Given the description of an element on the screen output the (x, y) to click on. 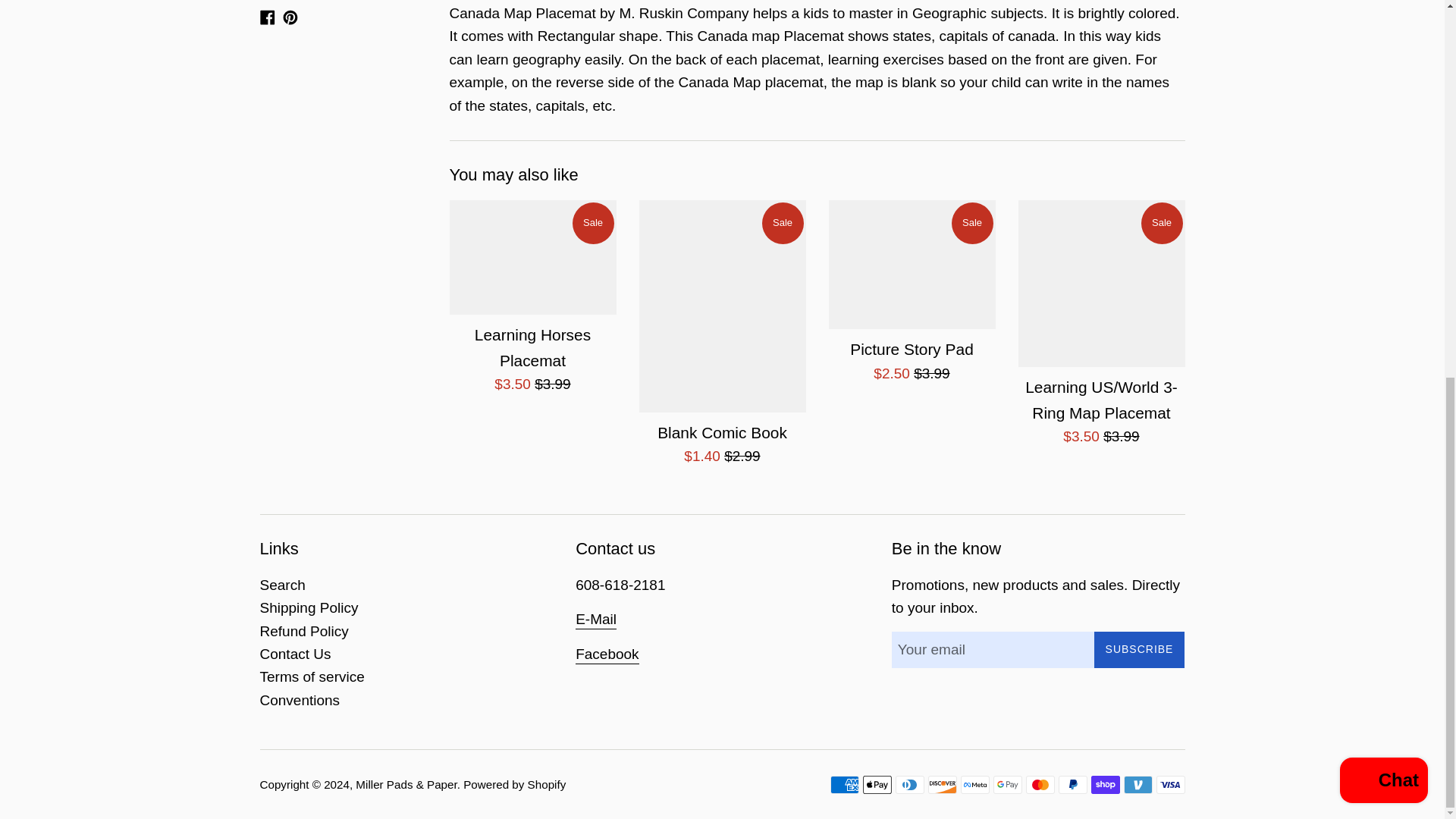
PayPal (1072, 784)
Shop Pay (1104, 784)
Visa (1170, 784)
Discover (942, 784)
Learning Horses Placemat (531, 256)
American Express (844, 784)
Apple Pay (877, 784)
Picture Story Pad (911, 264)
Shopify online store chat (1383, 84)
Mastercard (1039, 784)
Google Pay (1007, 784)
Venmo (1138, 784)
Diners Club (909, 784)
Meta Pay (973, 784)
